Given the description of an element on the screen output the (x, y) to click on. 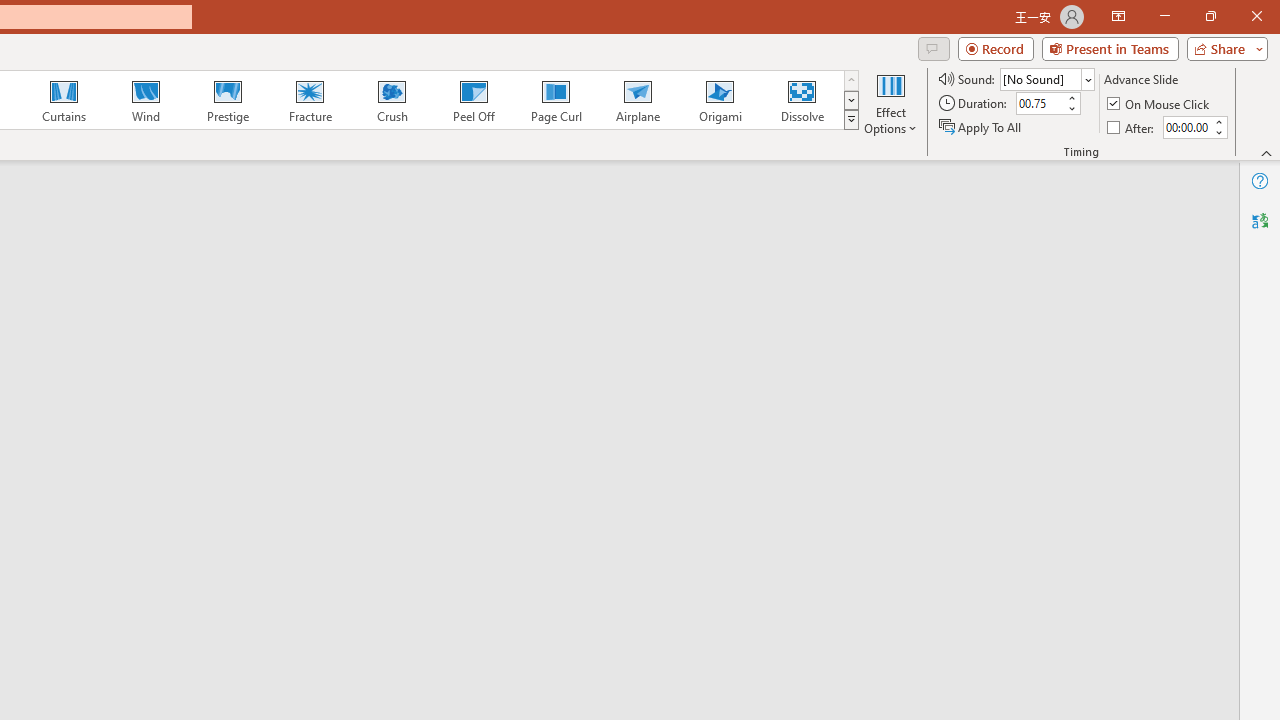
Curtains (63, 100)
On Mouse Click (1159, 103)
Page Curl (555, 100)
Dissolve (802, 100)
Transition Effects (850, 120)
Prestige (227, 100)
